Given the description of an element on the screen output the (x, y) to click on. 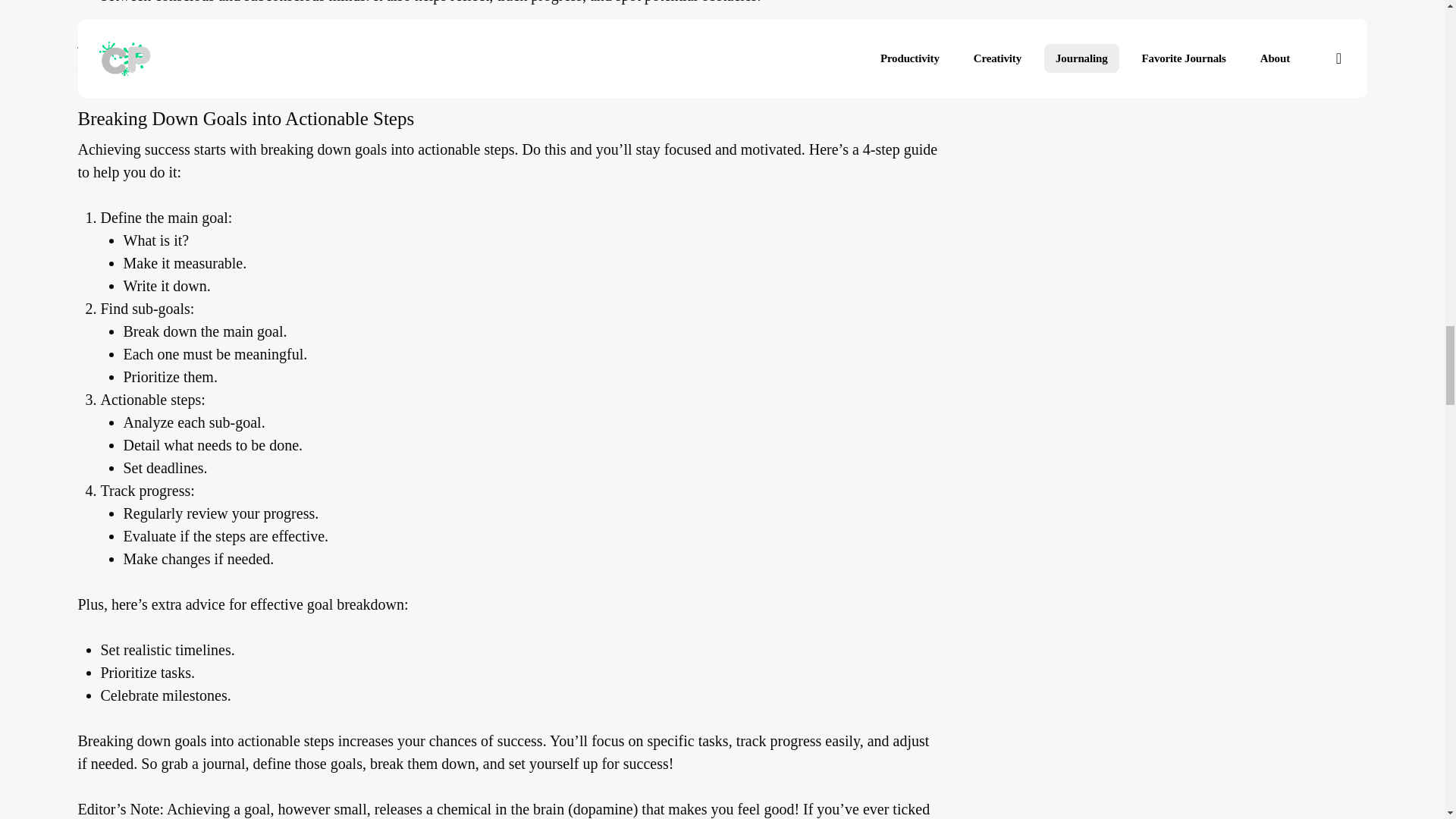
Laura King (112, 64)
